Given the description of an element on the screen output the (x, y) to click on. 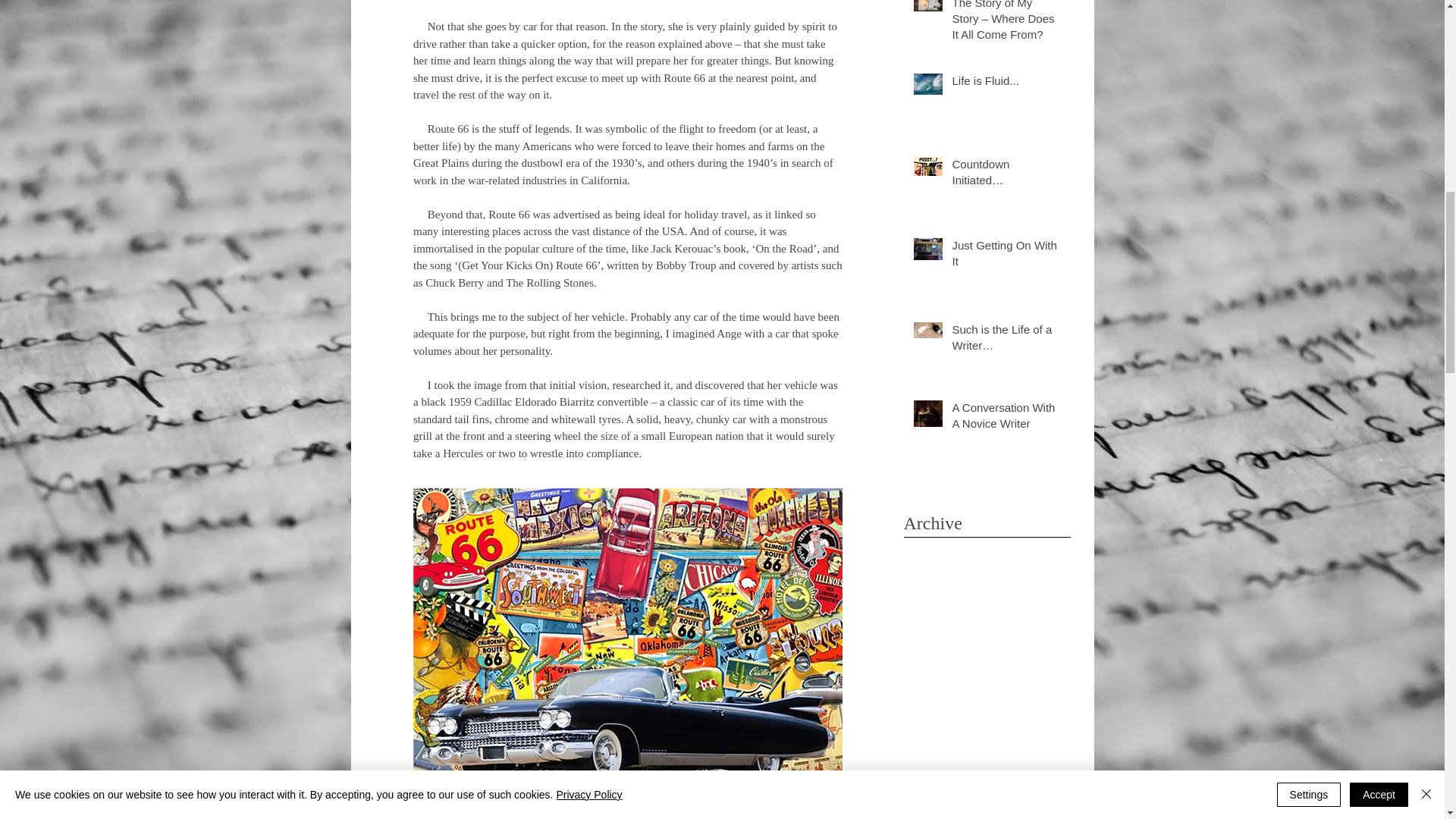
A Conversation With A Novice Writer (1006, 418)
Life is Fluid... (1006, 83)
Just Getting On With It (1006, 256)
